Given the description of an element on the screen output the (x, y) to click on. 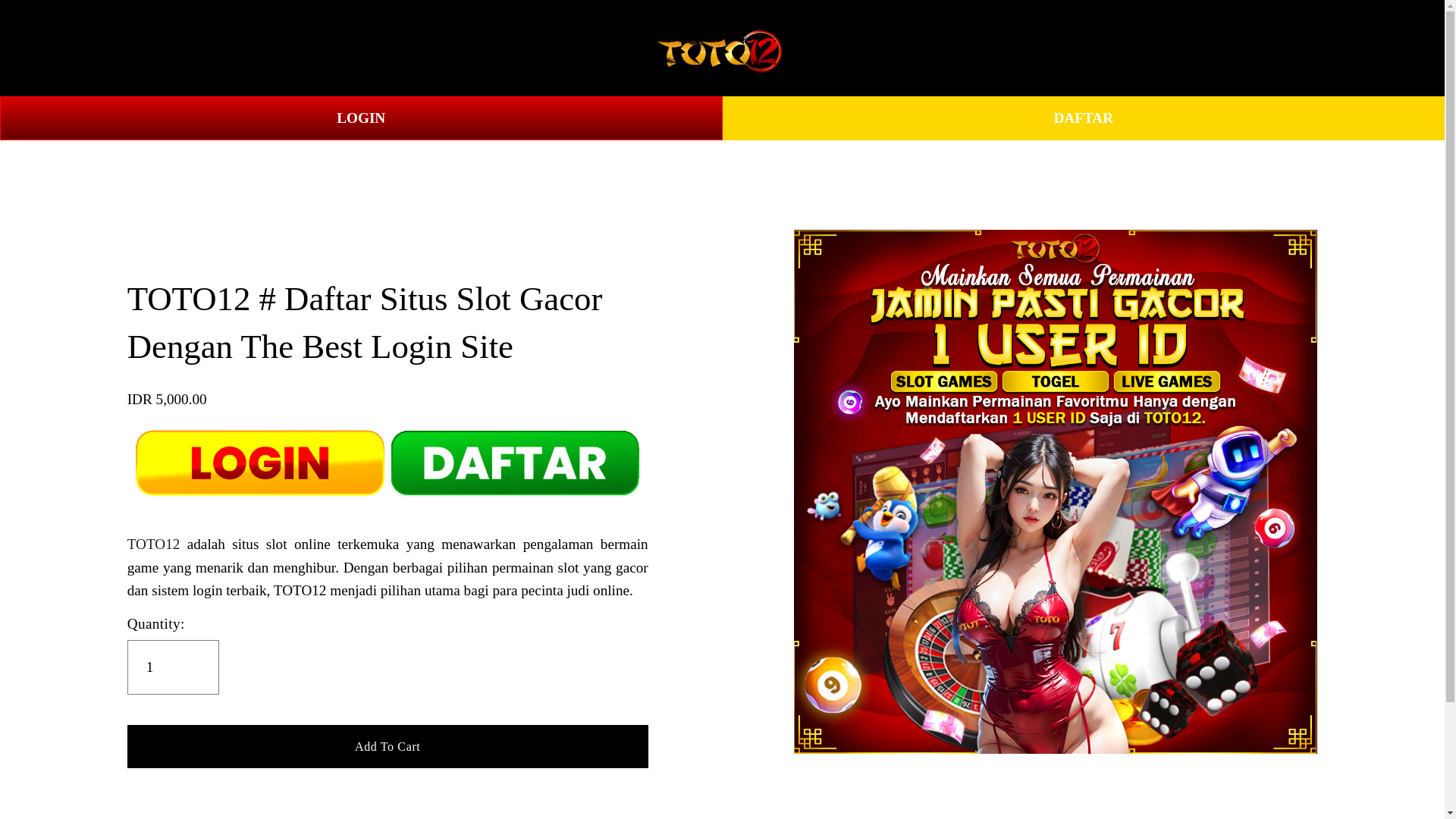
TOTO12 (135, 48)
TOTO12 (154, 544)
0 (1385, 47)
Store (59, 48)
LOGIN (361, 118)
1 (173, 666)
DAFTAR TOTO12 (253, 48)
Add To Cart (387, 745)
